Given the description of an element on the screen output the (x, y) to click on. 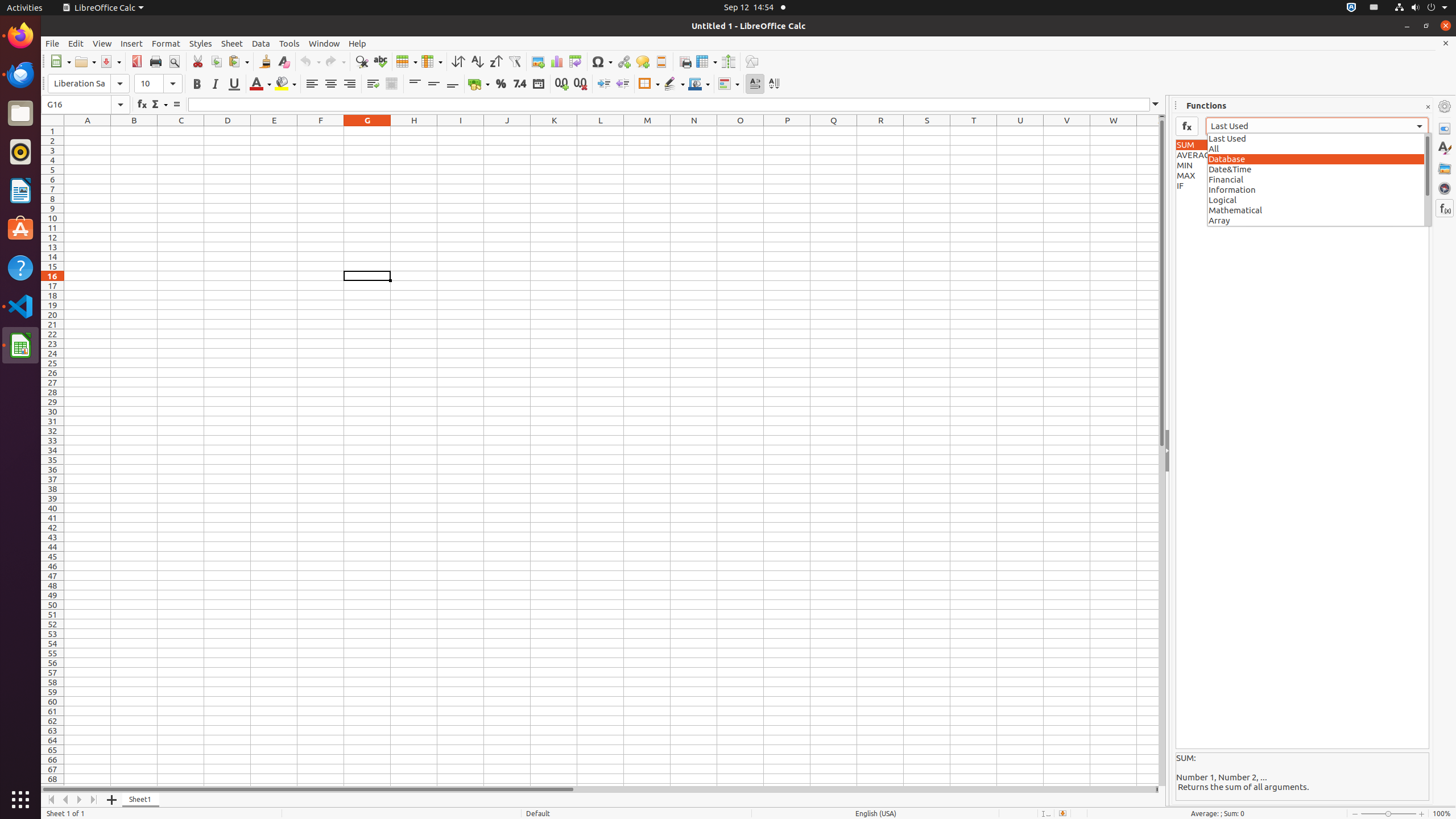
N1 Element type: table-cell (693, 130)
Sort Descending Element type: push-button (495, 61)
PDF Element type: push-button (136, 61)
LibreOffice Calc Element type: push-button (20, 344)
O1 Element type: table-cell (740, 130)
